Given the description of an element on the screen output the (x, y) to click on. 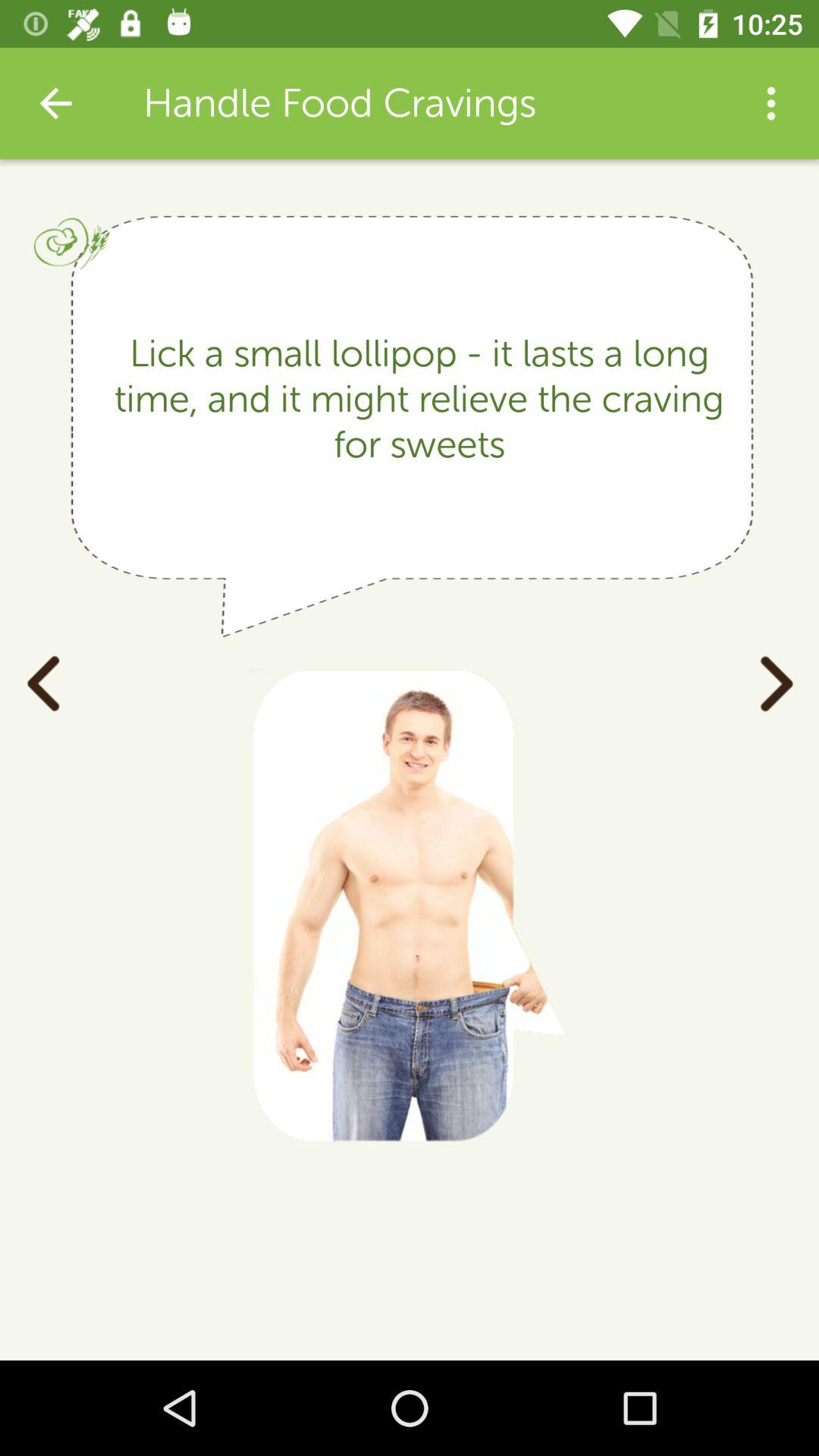
select the item next to handle food cravings item (55, 103)
